Given the description of an element on the screen output the (x, y) to click on. 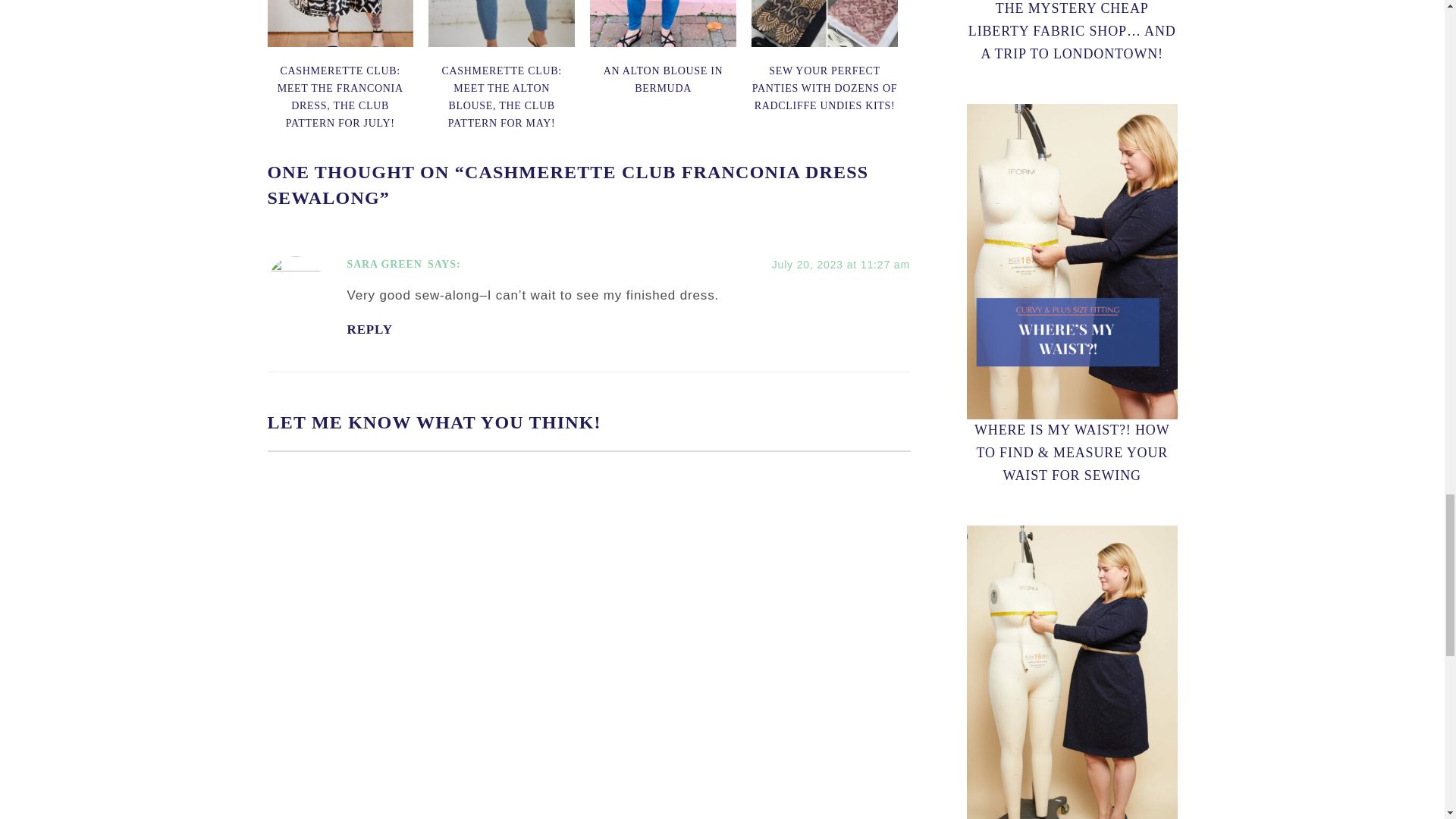
An Alton Blouse in Bermuda (663, 79)
